Given the description of an element on the screen output the (x, y) to click on. 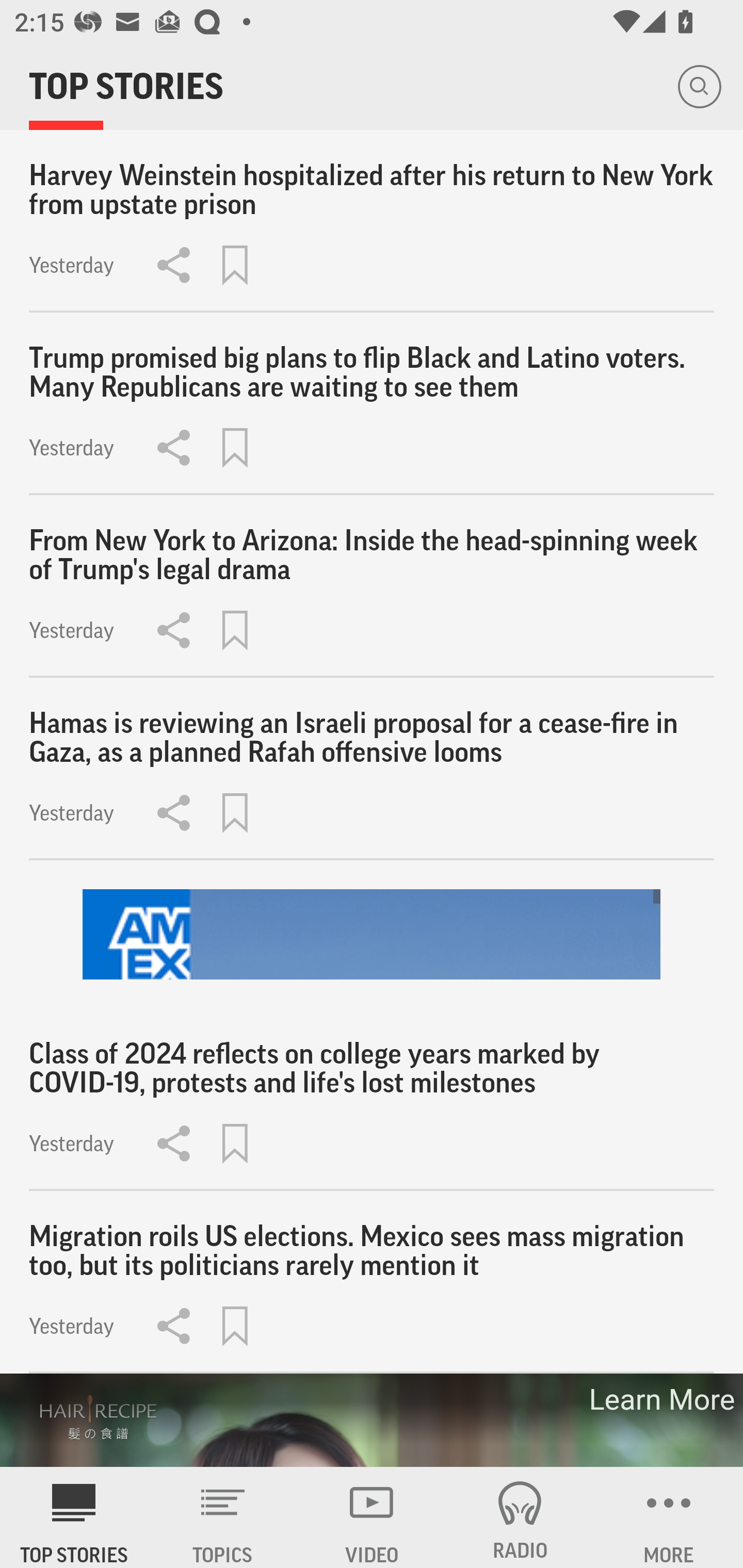
6617a94004d5672cf07b09d7 (371, 934)
Learn More (660, 1399)
AP News TOP STORIES (74, 1517)
TOPICS (222, 1517)
VIDEO (371, 1517)
RADIO (519, 1517)
MORE (668, 1517)
